Given the description of an element on the screen output the (x, y) to click on. 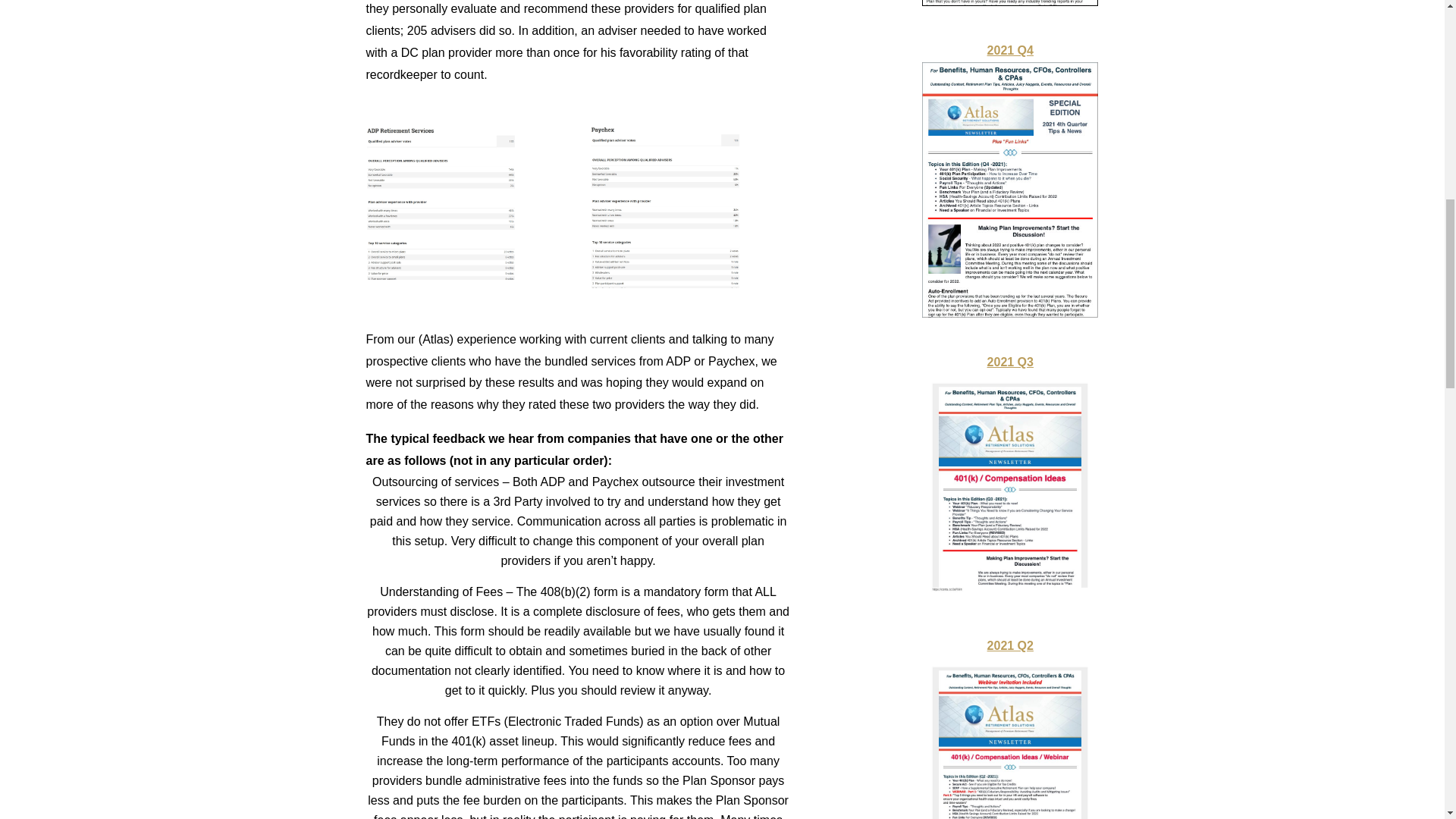
Page 1 (578, 42)
2022 Q1 (1009, 11)
2021 Q2 (1009, 729)
2021 Q3 (1009, 486)
